Given the description of an element on the screen output the (x, y) to click on. 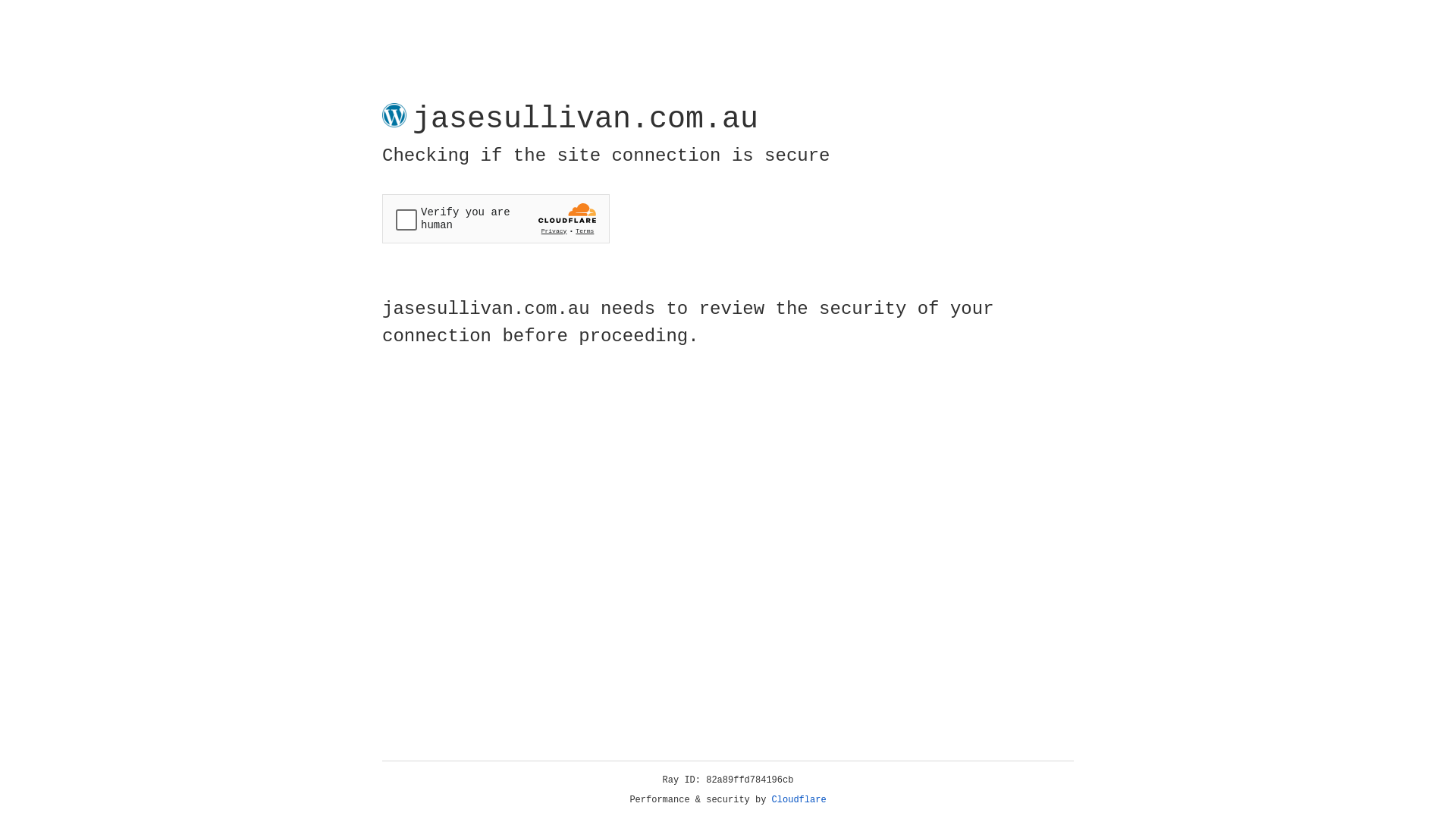
Widget containing a Cloudflare security challenge Element type: hover (495, 218)
Cloudflare Element type: text (798, 799)
